Given the description of an element on the screen output the (x, y) to click on. 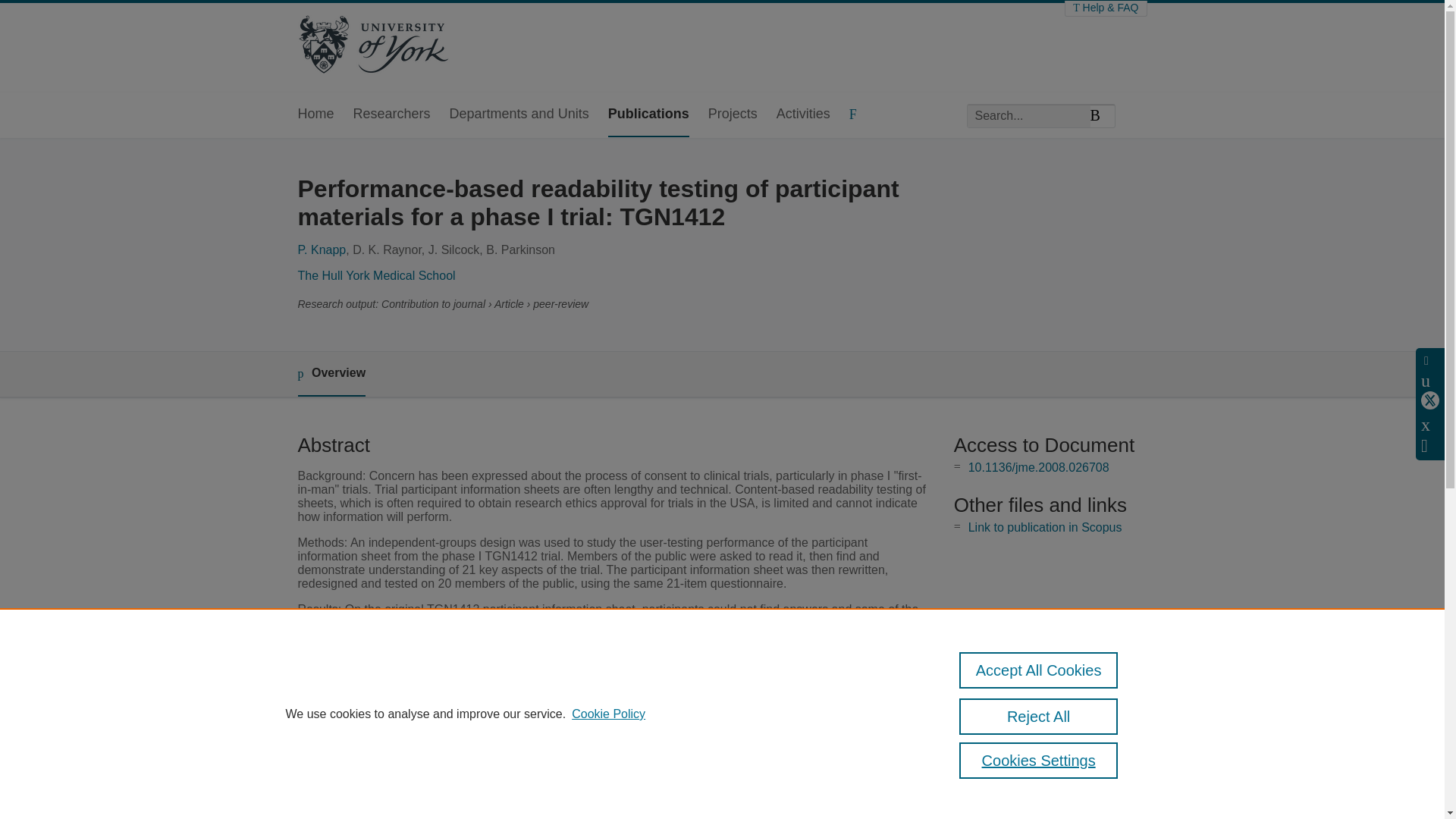
P. Knapp (321, 249)
The Hull York Medical School (375, 275)
Projects (732, 114)
Cookie Policy (608, 713)
Researchers (391, 114)
Publications (648, 114)
Activities (802, 114)
York Research Database Home (372, 45)
Cookies Settings (1038, 760)
Journal of Medical Ethics (576, 807)
Overview (331, 374)
Link to publication in Scopus (1045, 526)
Departments and Units (519, 114)
